Given the description of an element on the screen output the (x, y) to click on. 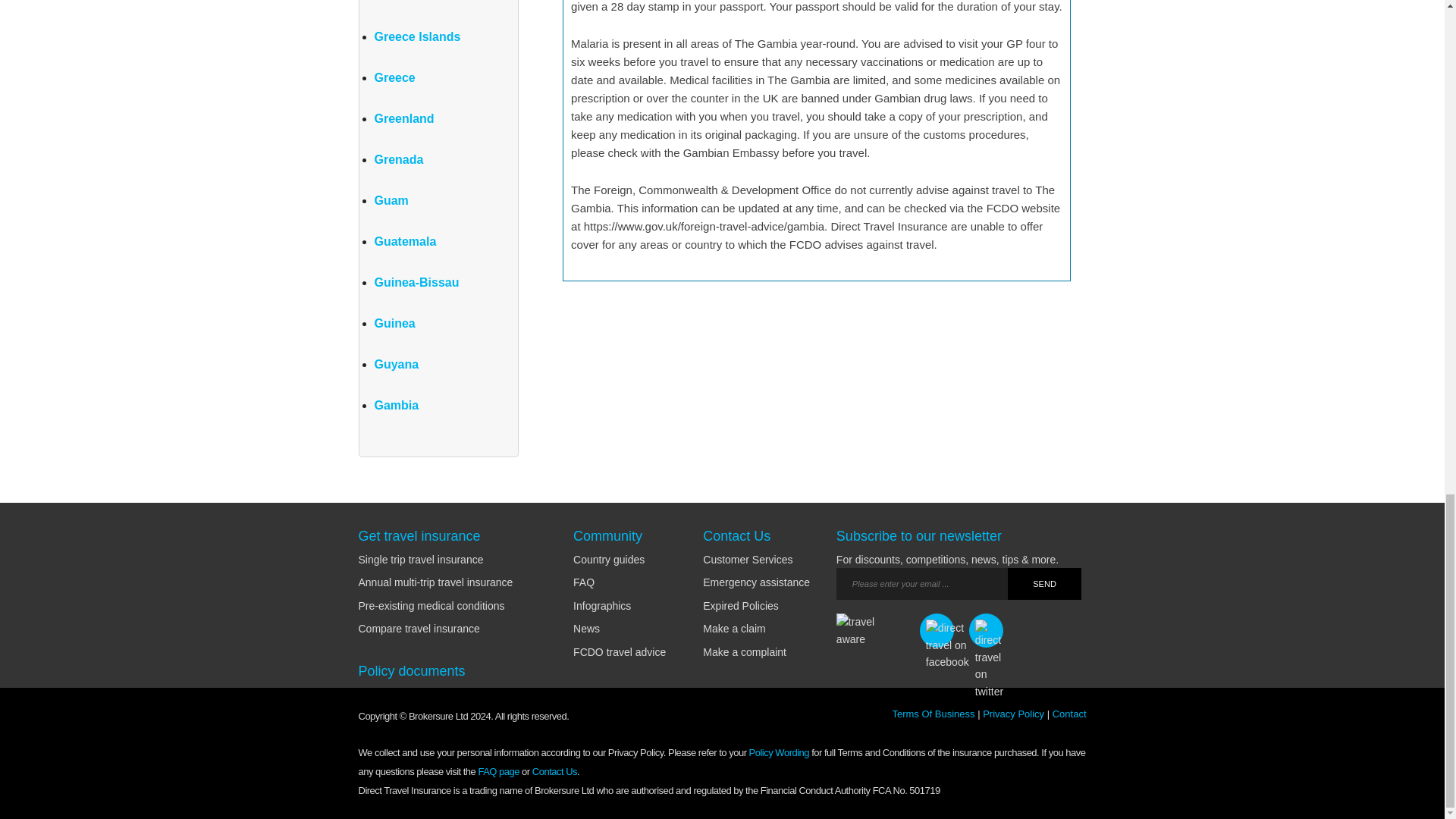
Greece Islands (417, 36)
Gibraltar (399, 1)
SEND (1044, 583)
